Given the description of an element on the screen output the (x, y) to click on. 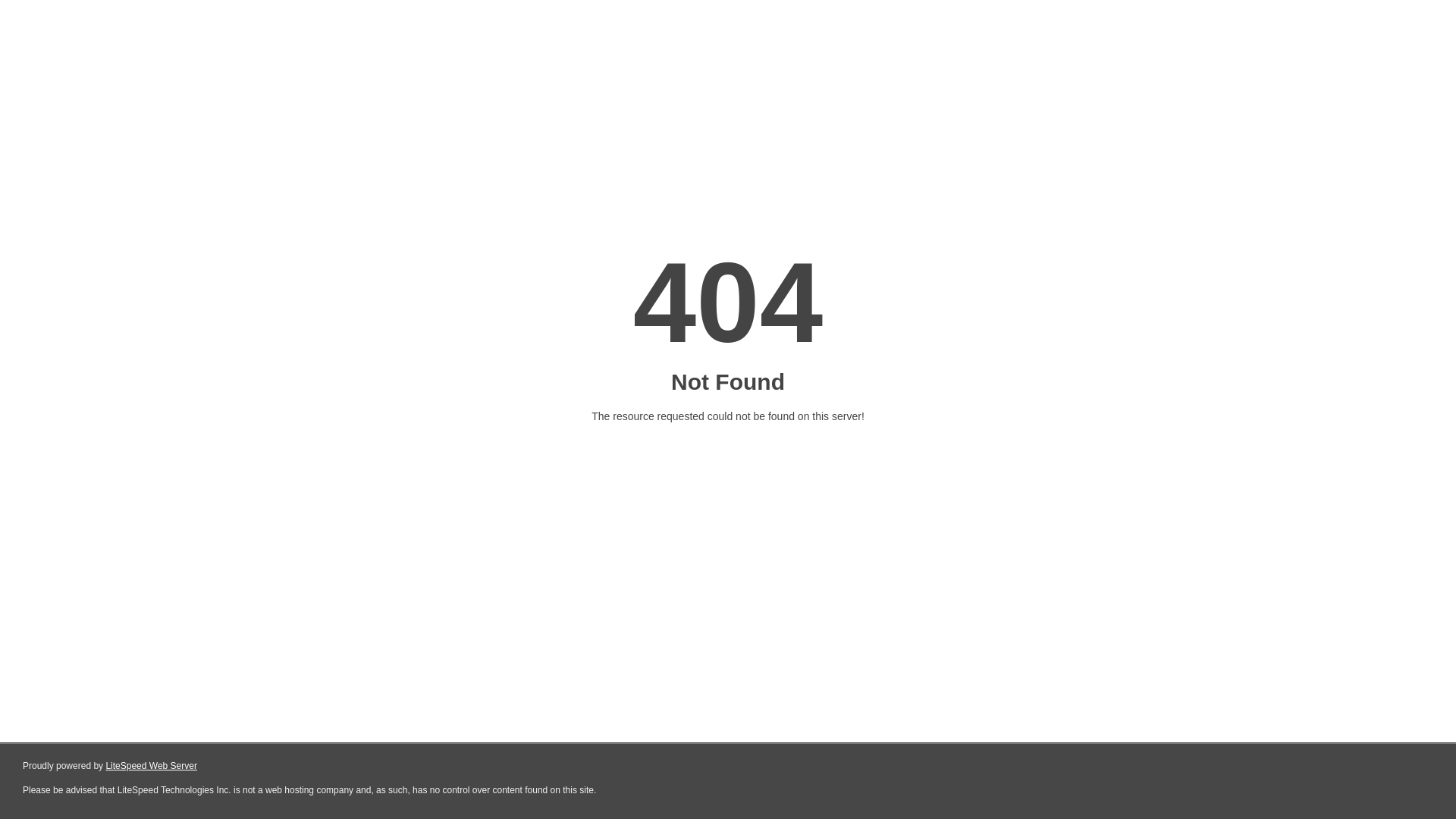
LiteSpeed Web Server Element type: text (151, 765)
